Given the description of an element on the screen output the (x, y) to click on. 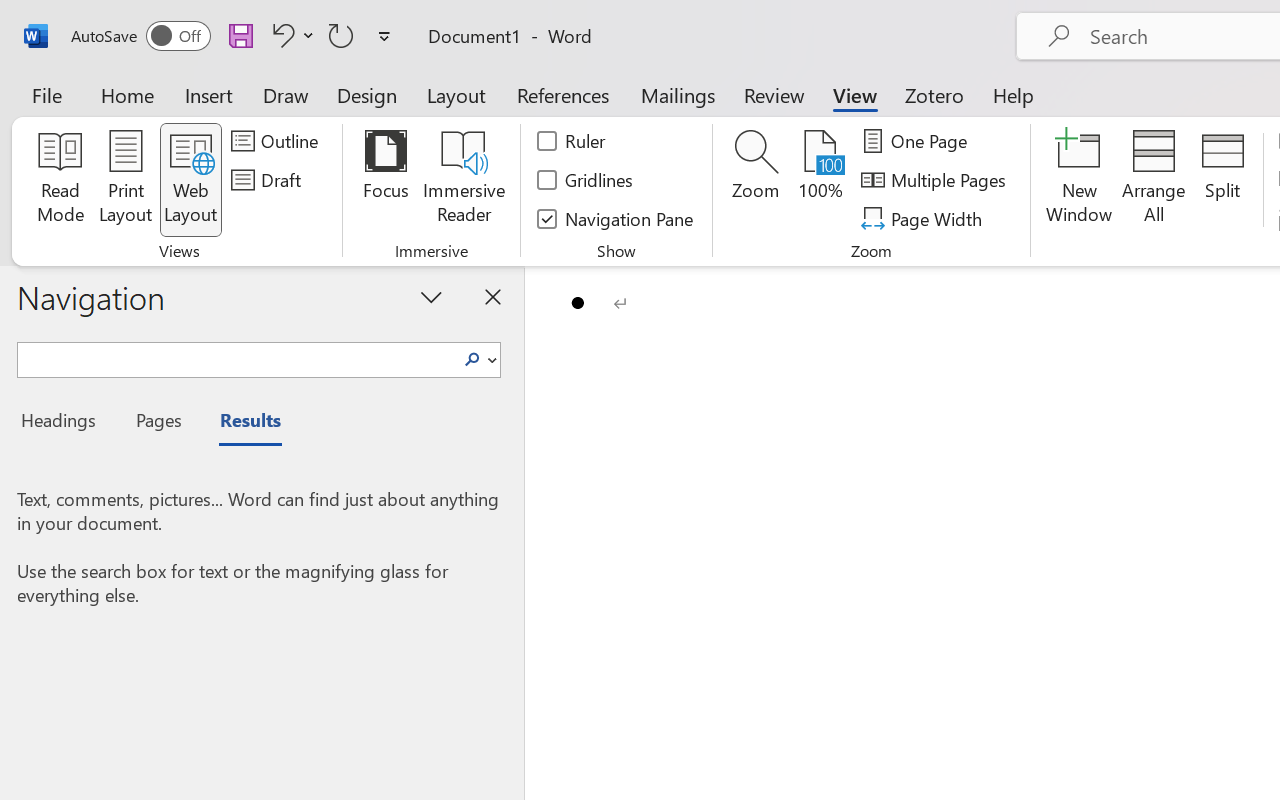
Gridlines (586, 179)
Zoom... (755, 179)
Split (1222, 179)
